Given the description of an element on the screen output the (x, y) to click on. 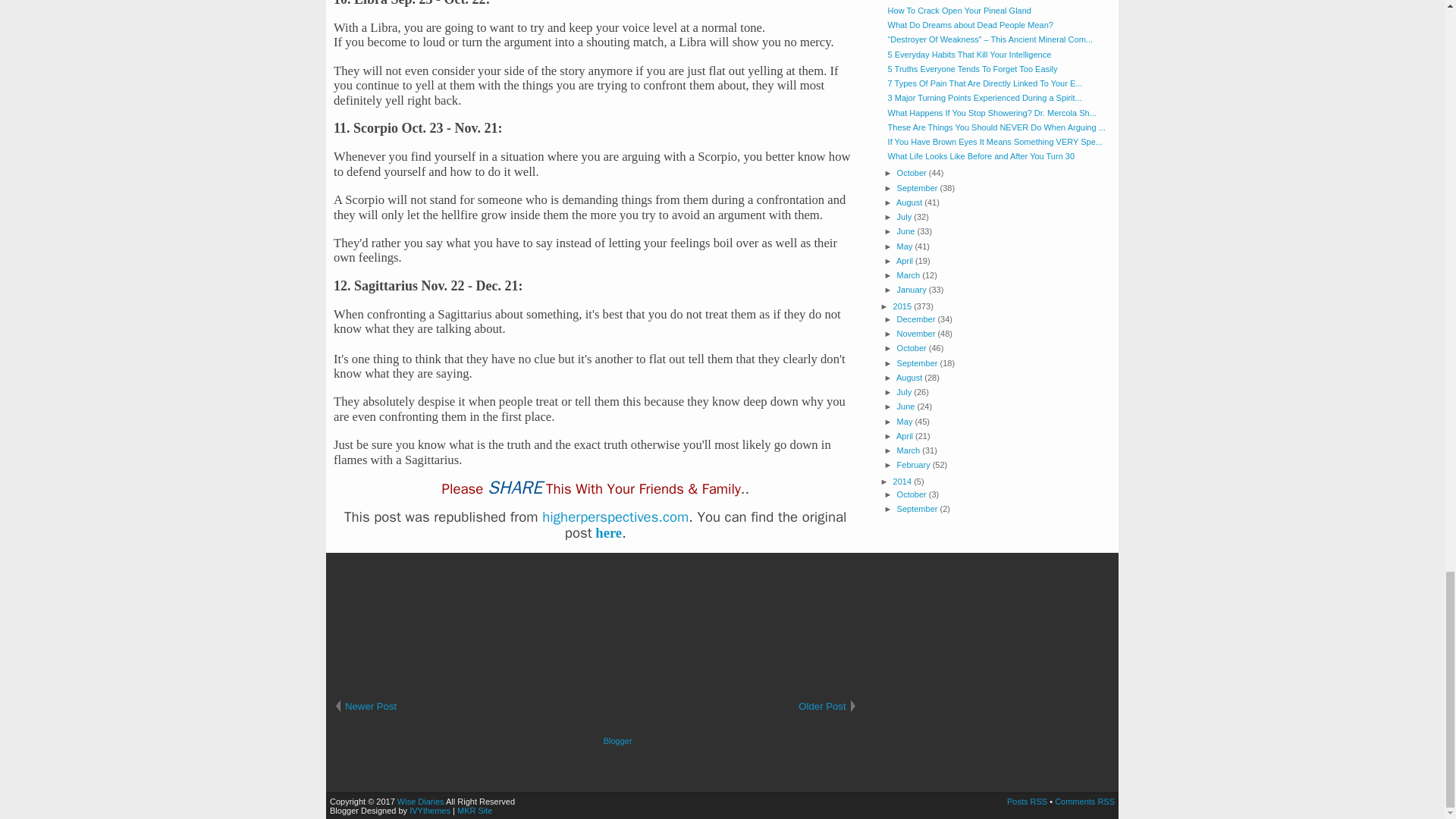
Older Post (726, 705)
here (608, 532)
higherperspectives.com (614, 516)
Blogger (617, 740)
Newer Post (464, 705)
Older Post (726, 705)
Newer Post (464, 705)
